Given the description of an element on the screen output the (x, y) to click on. 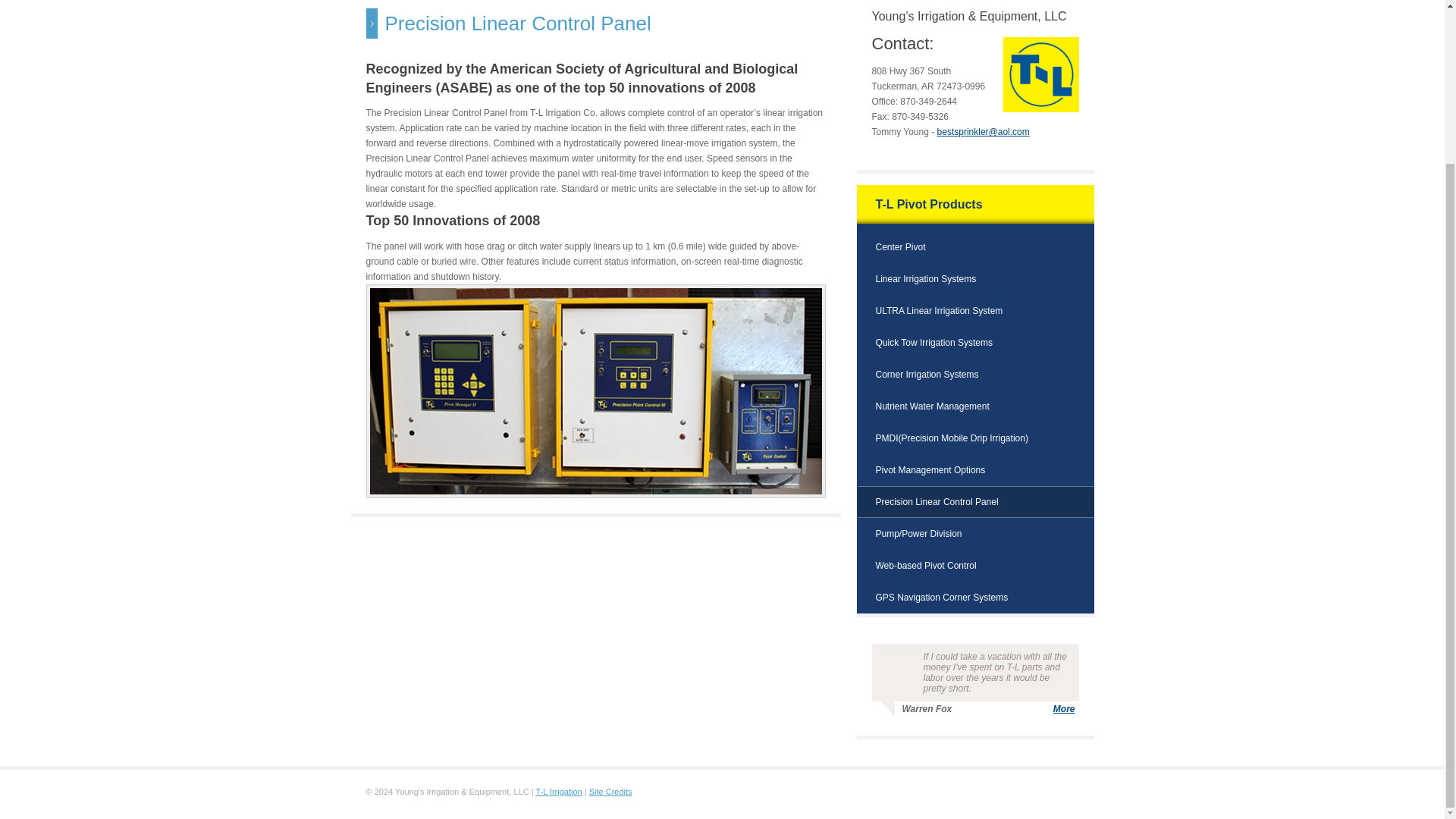
Linear Irrigation Systems (925, 282)
Pivot Management Options (930, 473)
Corner Irrigation Systems (926, 378)
Center Pivot (899, 250)
Quick Tow Irrigation Systems (933, 346)
ULTRA Linear Irrigation System (939, 314)
Precision Linear Control Panel (936, 505)
Nutrient Water Management (931, 409)
Corner Irrigation Systems (926, 378)
Nutrient Water Management (931, 409)
T-L Pivot Products (928, 207)
Linear Irrigation Systems (925, 282)
ULTRA Linear Irrigation System (939, 314)
Quick Tow Irrigation Systems (933, 346)
T-L Pivot Products (928, 207)
